Given the description of an element on the screen output the (x, y) to click on. 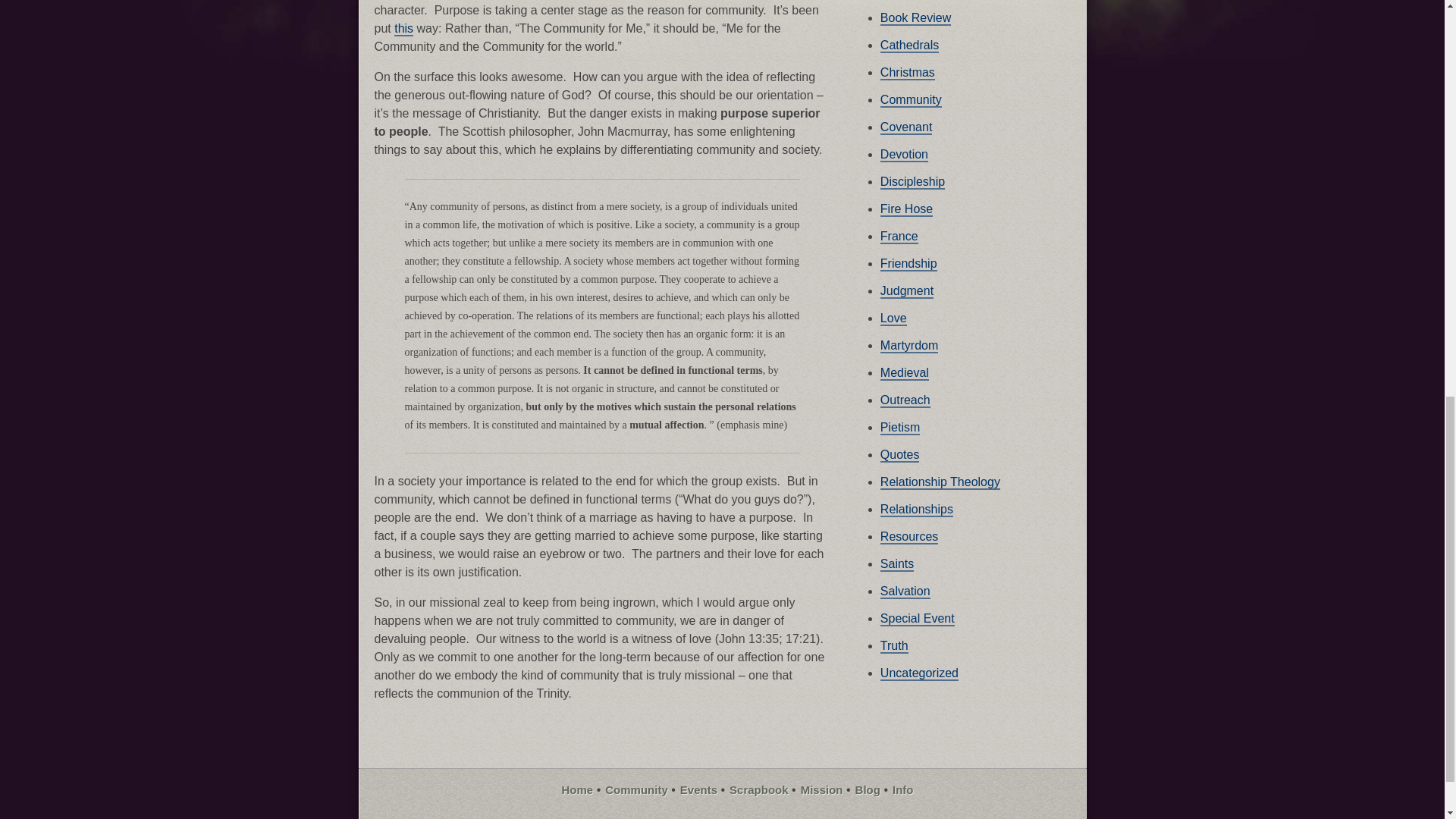
Discipleship (912, 182)
Love (893, 318)
Fire Hose (906, 209)
Christmas (907, 73)
Devotion (904, 155)
Community (911, 100)
Cathedrals (909, 45)
France (899, 237)
Martyrdom (908, 345)
Book Review (915, 18)
Friendship (908, 264)
this (403, 29)
Judgment (906, 291)
Covenant (906, 127)
